Given the description of an element on the screen output the (x, y) to click on. 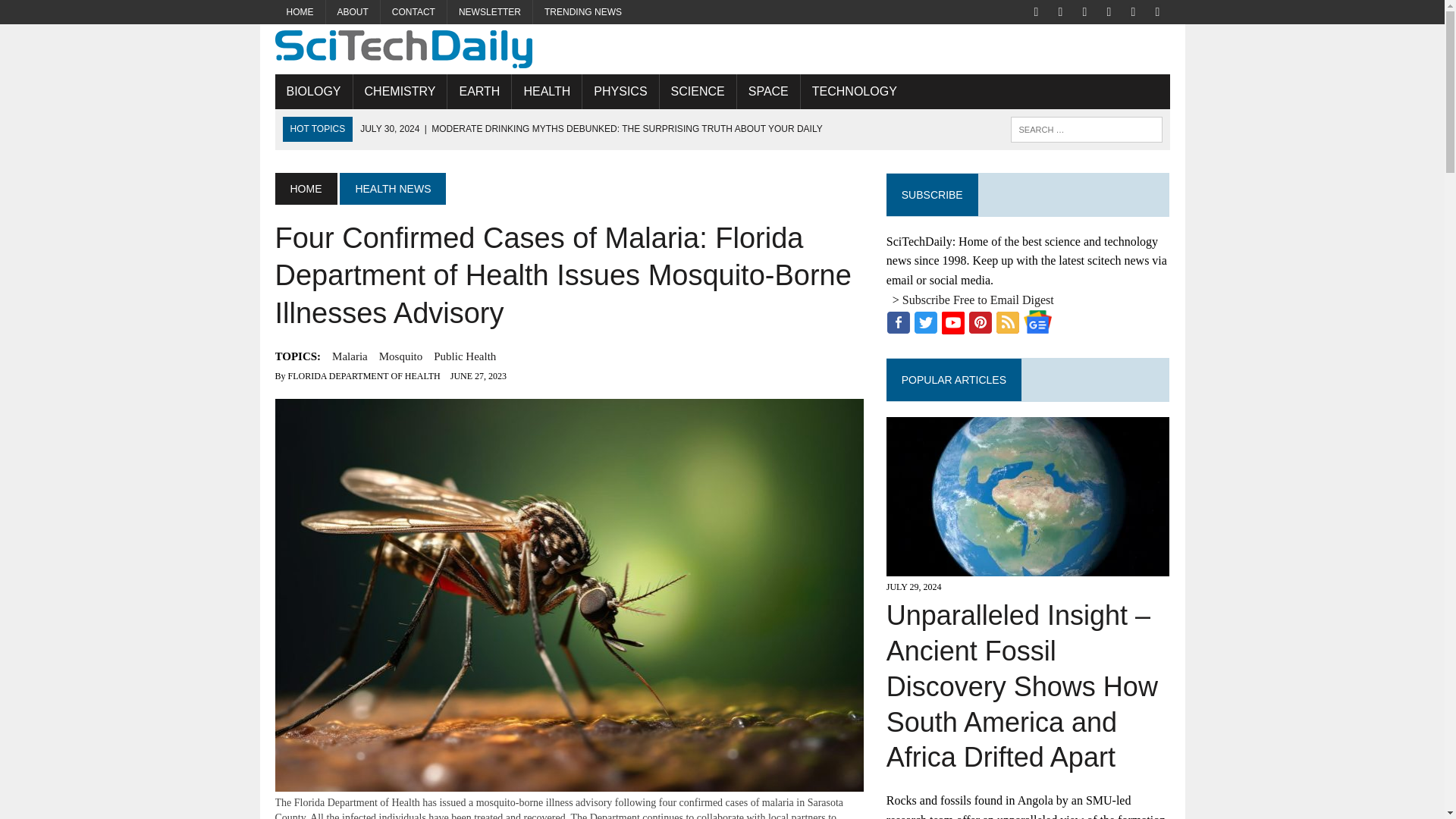
Malaria (349, 356)
SciTechDaily (722, 48)
About SciTechDaily (353, 12)
Contact SciTechDaily.com (413, 12)
SPACE (767, 91)
SciTechDaily Newsletter (489, 12)
TECHNOLOGY (854, 91)
Public Health (464, 356)
Search (75, 14)
ABOUT (353, 12)
EARTH (478, 91)
HEALTH (546, 91)
Mosquito (400, 356)
BIOLOGY (313, 91)
